Given the description of an element on the screen output the (x, y) to click on. 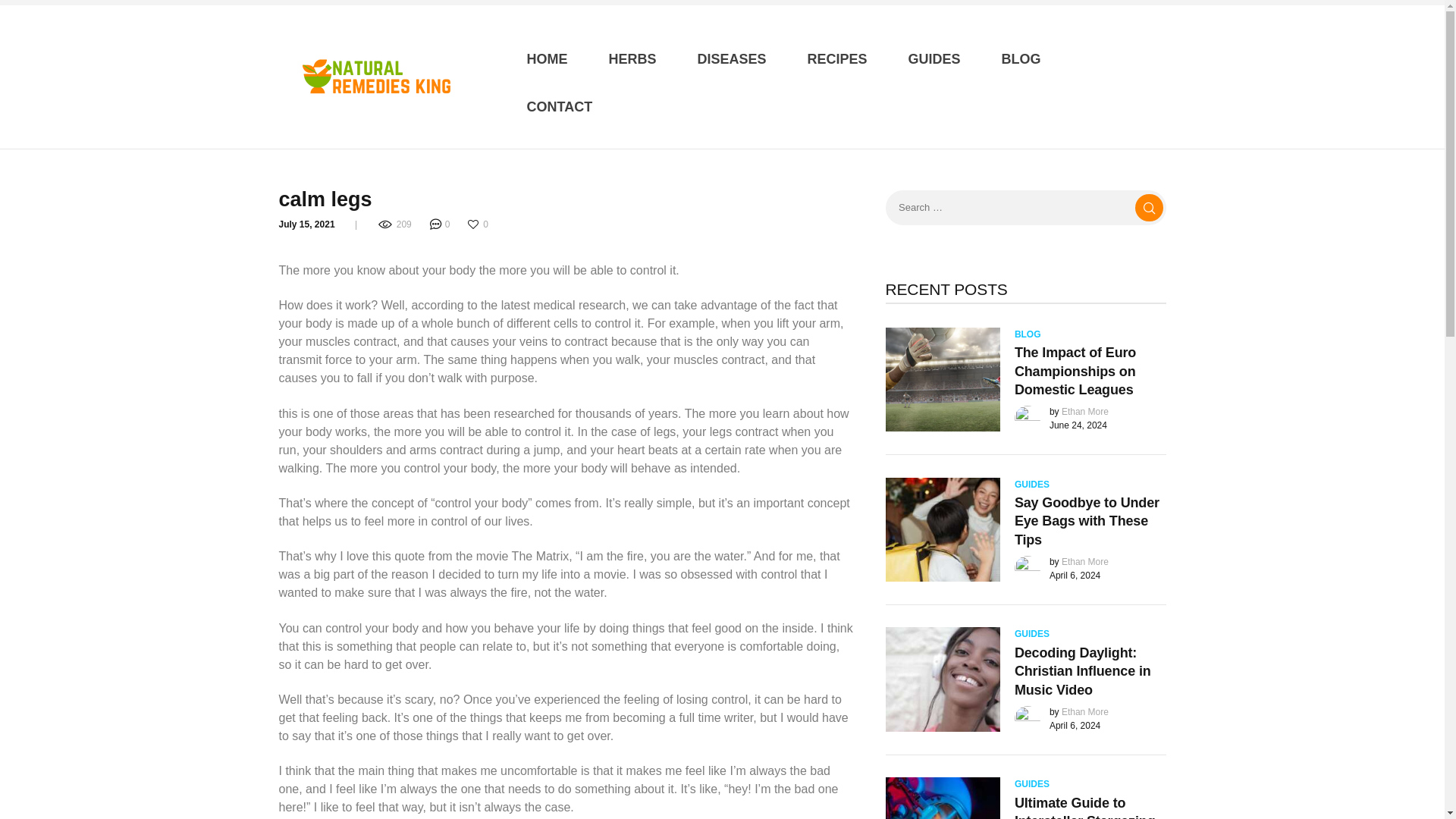
June 24, 2024 (1077, 425)
BLOG (1027, 334)
HOME (547, 59)
HERBS (632, 59)
GUIDES (934, 59)
209 (395, 224)
0 (440, 224)
Search (1149, 207)
Say Goodbye to Under Eye Bags with These Tips (1090, 520)
CONTACT (559, 107)
View all posts in blog (1027, 334)
The Impact of Euro Championships on Domestic Leagues (1090, 370)
View all posts in Guides (1031, 633)
0 (478, 224)
Search (1149, 207)
